Given the description of an element on the screen output the (x, y) to click on. 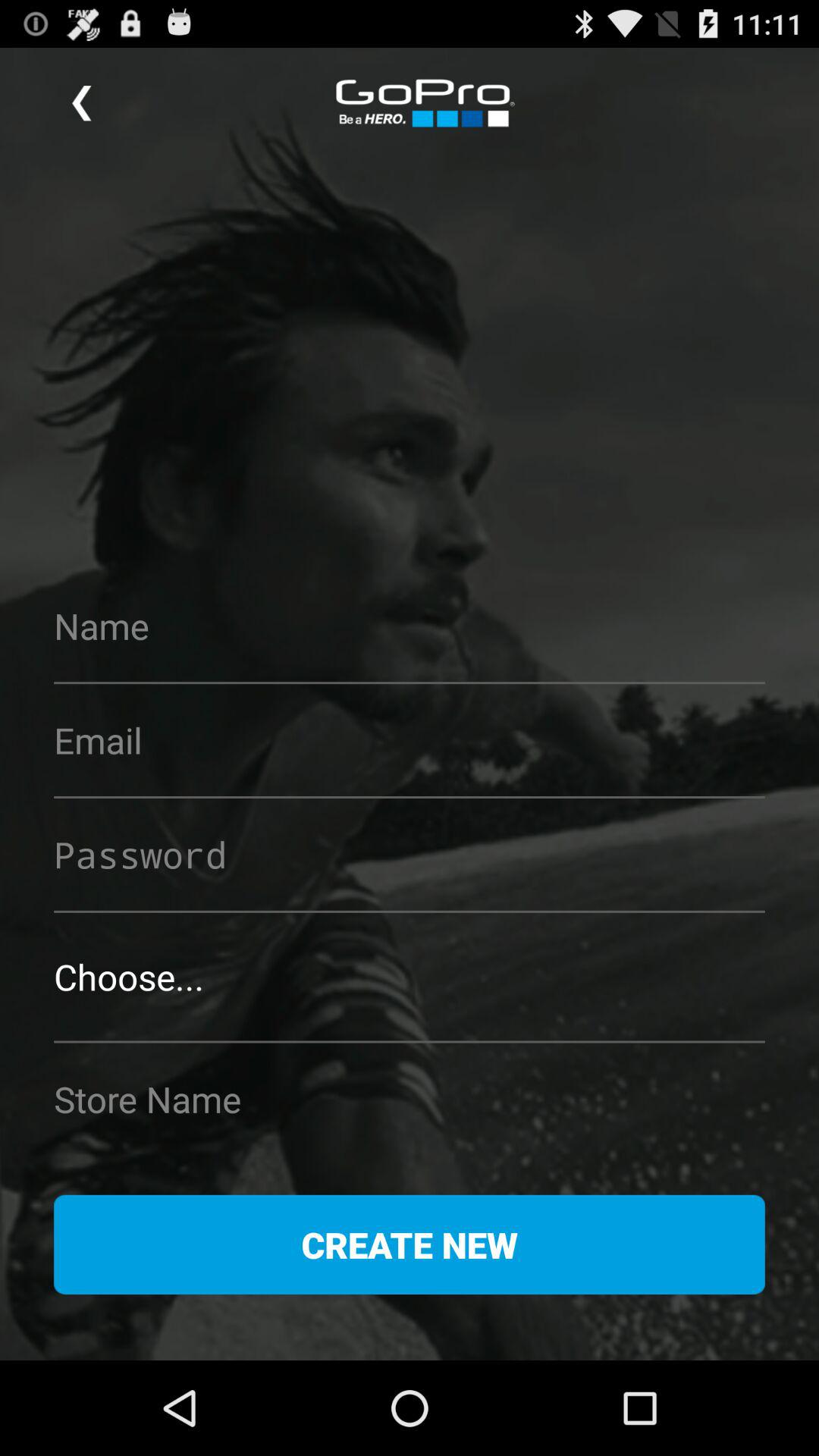
to enter password (409, 854)
